Given the description of an element on the screen output the (x, y) to click on. 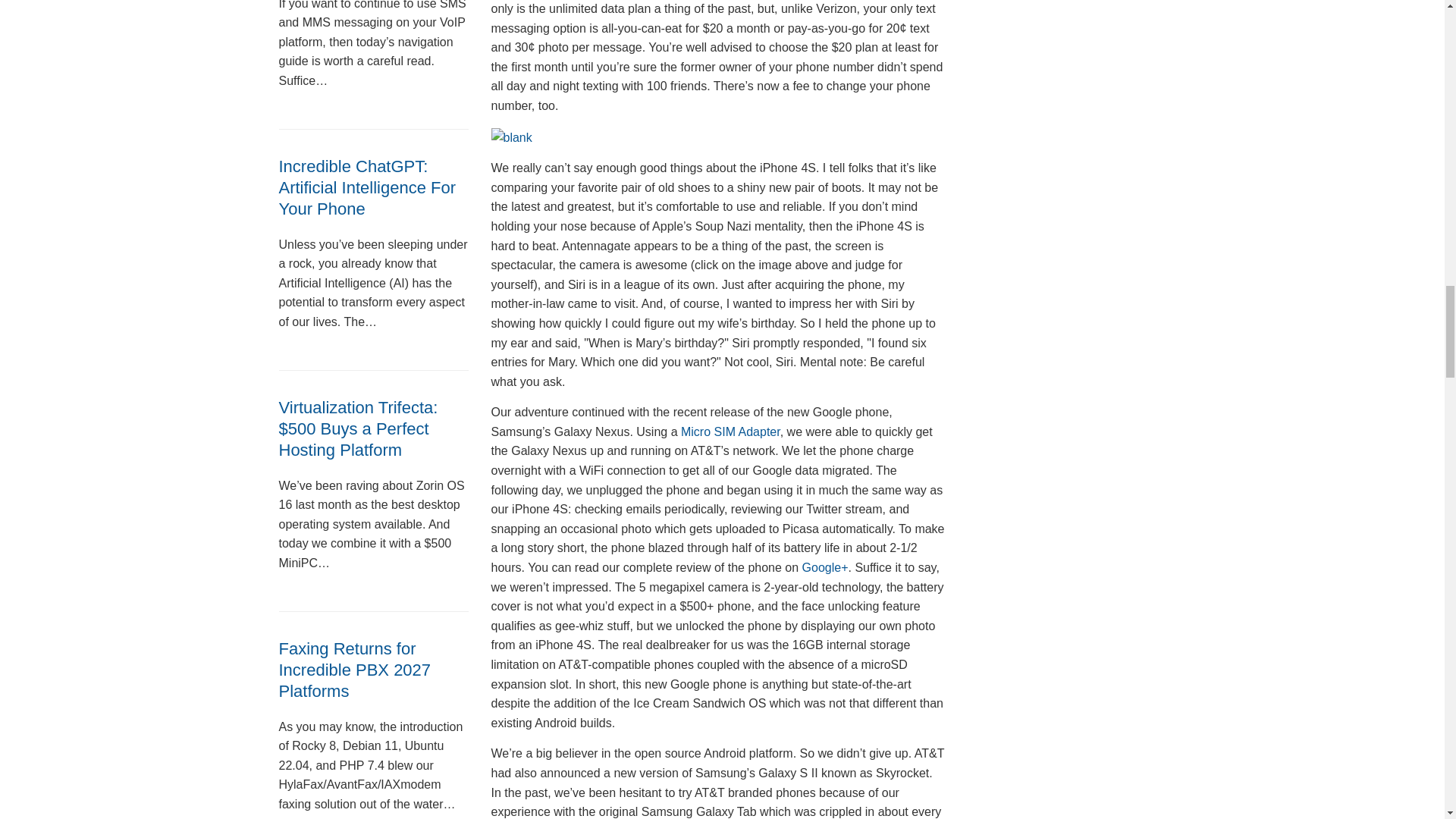
Incredible ChatGPT: Artificial Intelligence For Your Phone (368, 187)
Faxing Returns for Incredible PBX 2027 Platforms (354, 670)
